Given the description of an element on the screen output the (x, y) to click on. 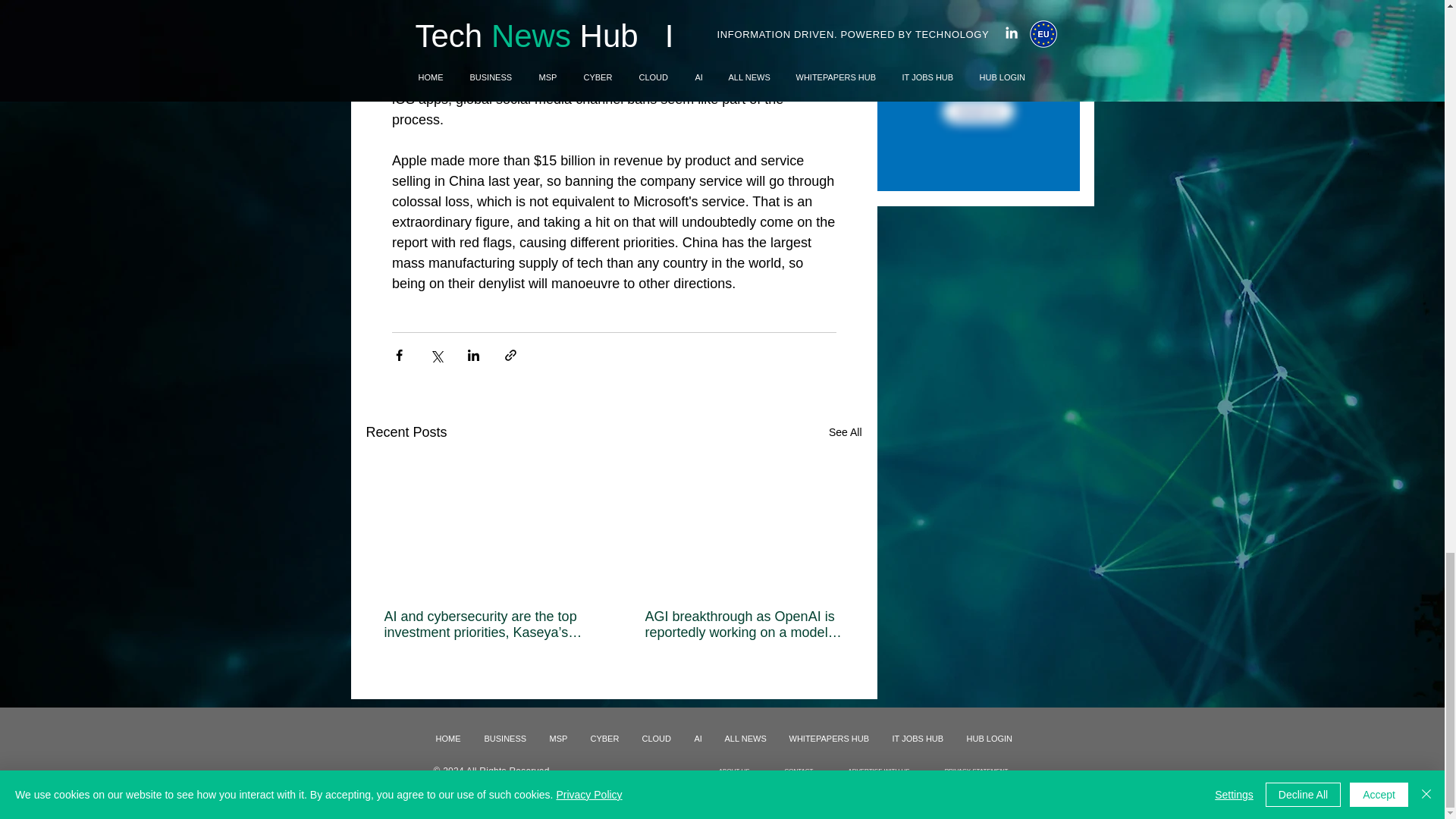
HOME (449, 738)
See All (844, 432)
ALL NEWS (745, 738)
MSP (558, 738)
BUSINESS (505, 738)
CYBER (604, 738)
CLOUD (656, 738)
AI (697, 738)
